Given the description of an element on the screen output the (x, y) to click on. 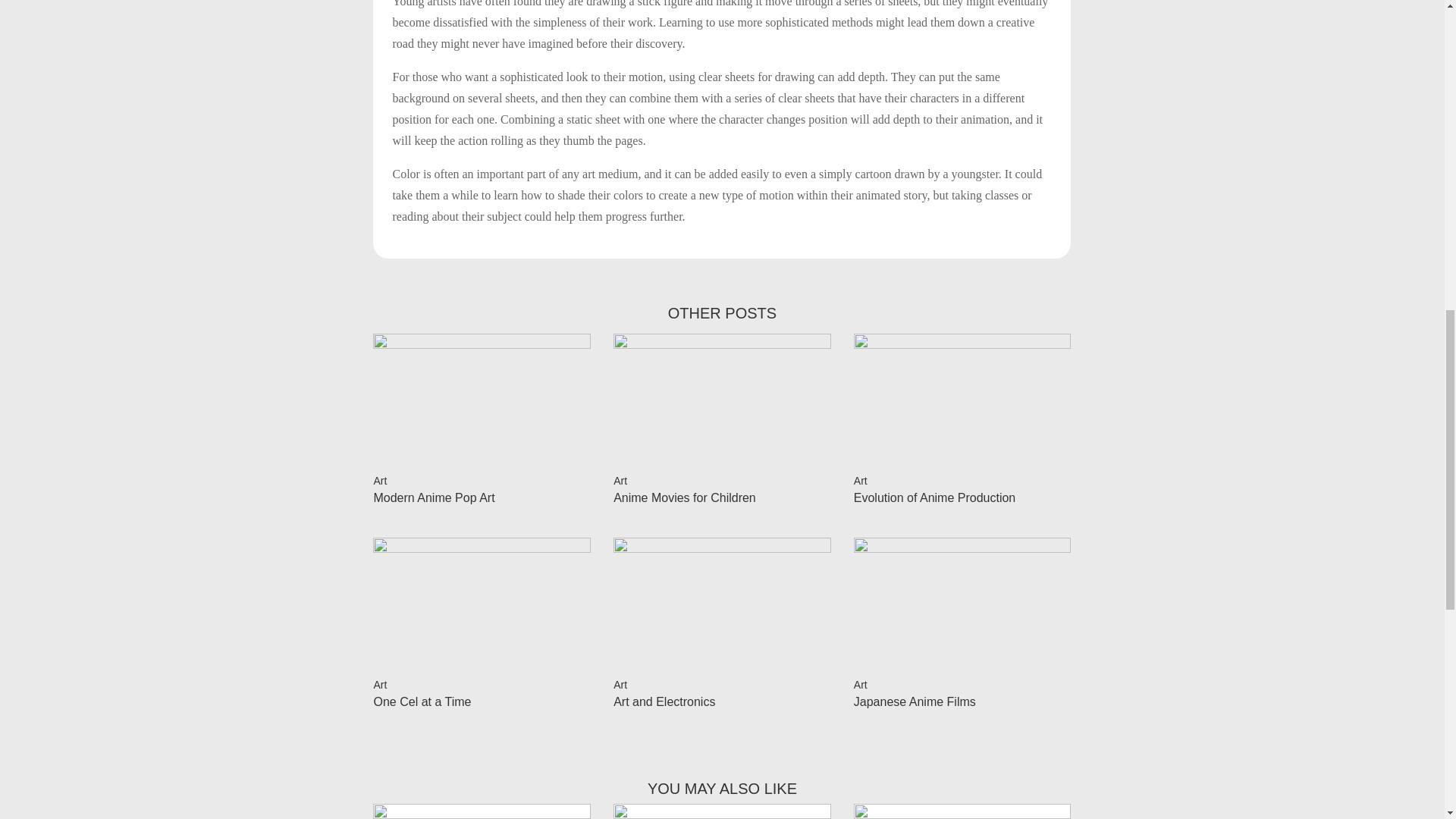
Japanese Anime Films (914, 701)
Art (379, 480)
Art (619, 480)
Anime Movies for Children (683, 497)
Art (860, 480)
Art (860, 684)
One Cel at a Time (421, 701)
Modern Anime Pop Art (433, 497)
Art (379, 684)
Art (619, 684)
